Given the description of an element on the screen output the (x, y) to click on. 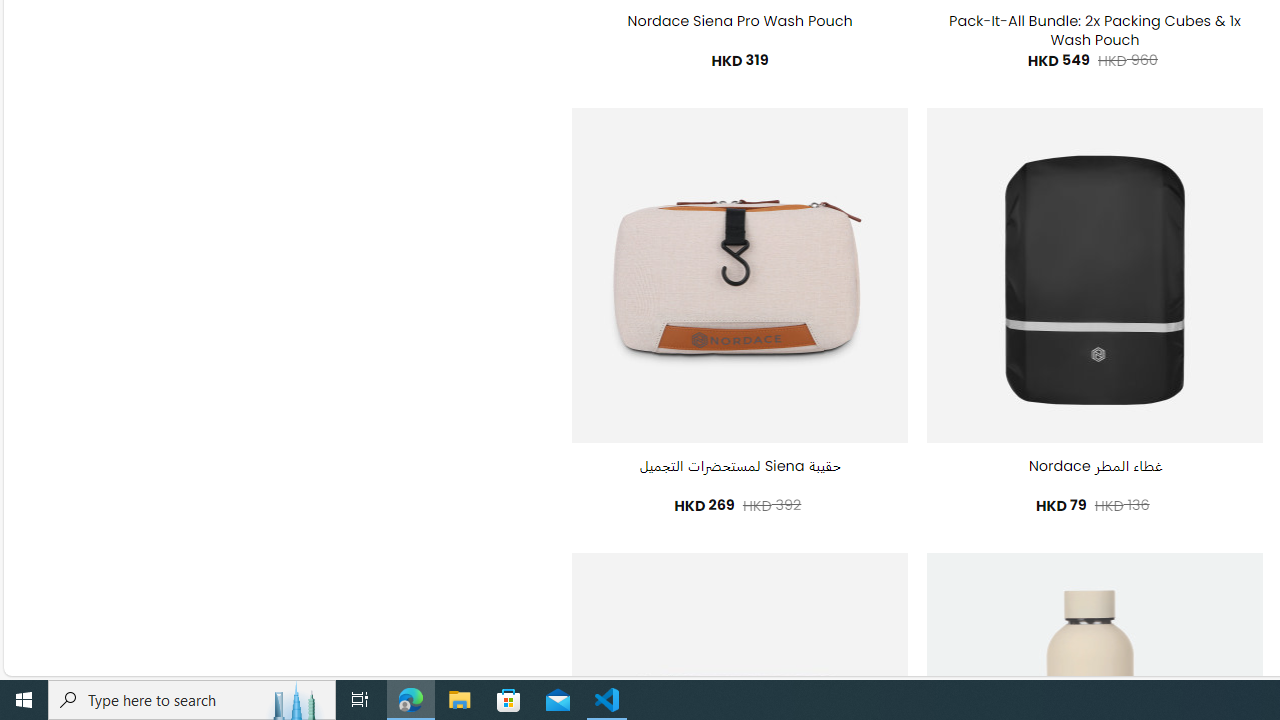
Pack-It-All Bundle: 2x Packing Cubes & 1x Wash Pouch (1094, 29)
Nordace Siena Pro Wash Pouch (739, 21)
